Given the description of an element on the screen output the (x, y) to click on. 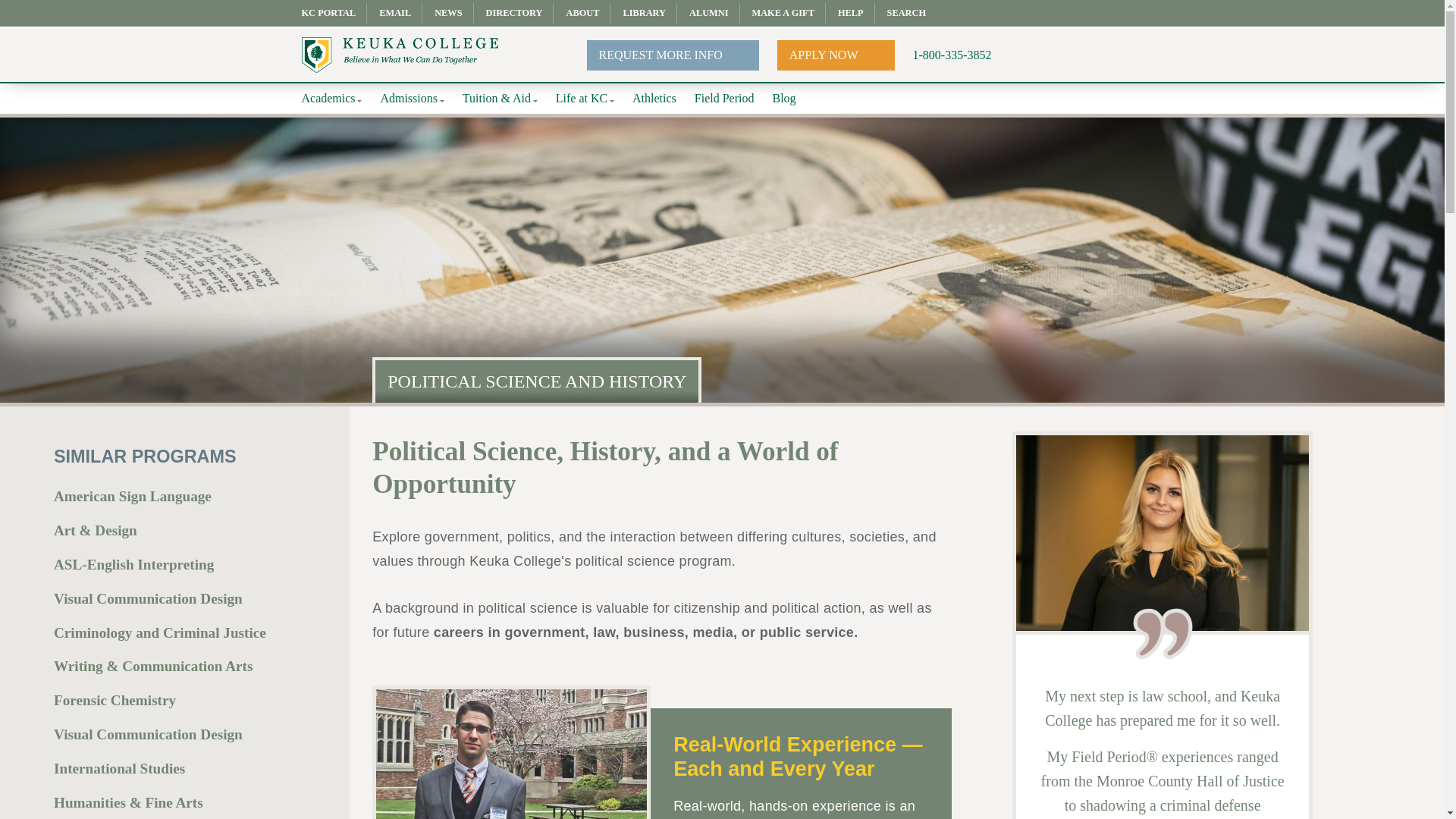
1-800-335-3852 (951, 54)
Academics (331, 98)
APPLY NOW (836, 54)
REQUEST MORE INFO (672, 54)
Life at KC (585, 98)
Admissions (412, 98)
